Given the description of an element on the screen output the (x, y) to click on. 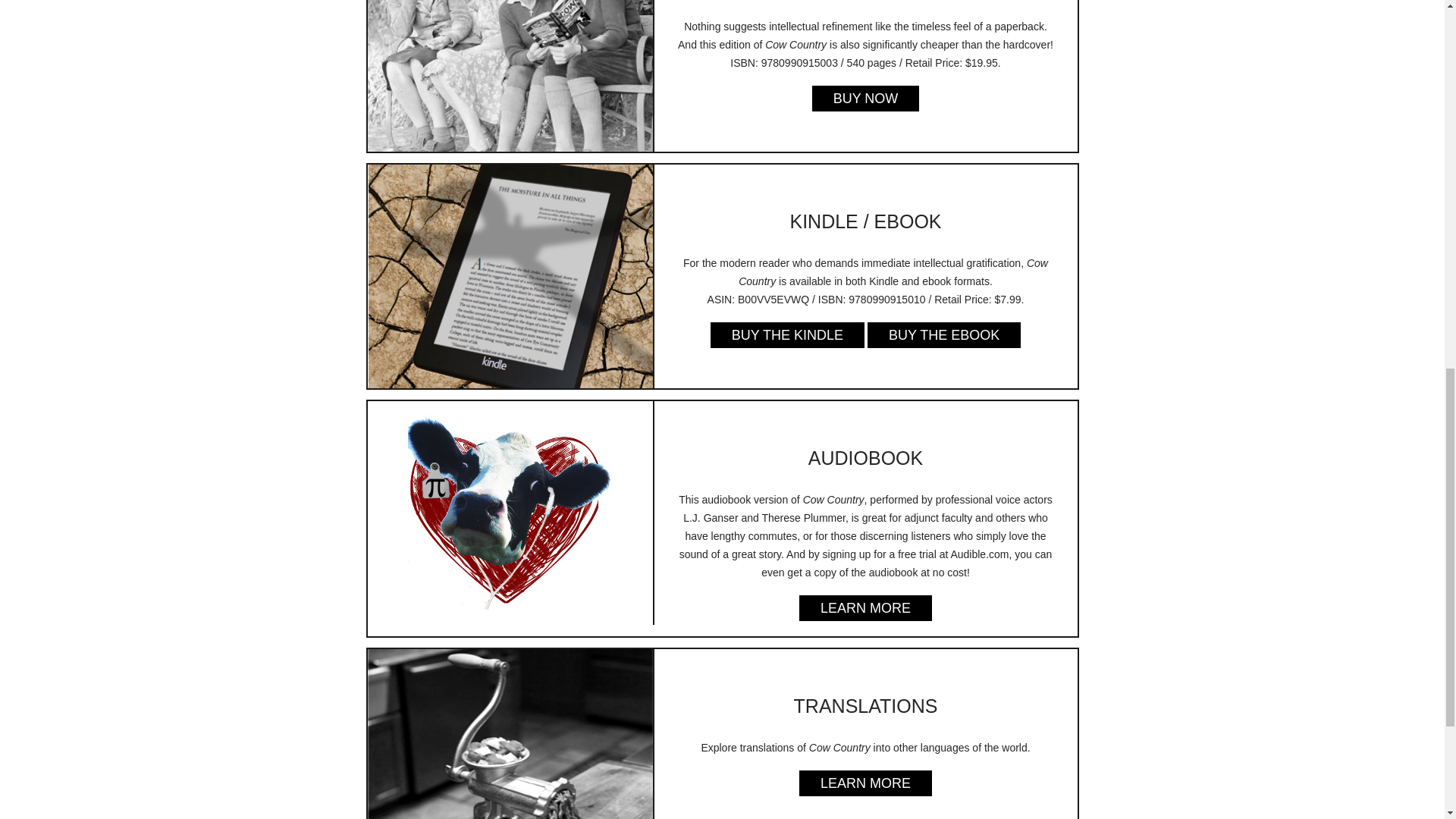
LEARN MORE (865, 607)
BUY NOW (866, 98)
LEARN MORE (865, 783)
BUY THE EBOOK (943, 335)
BUY THE KINDLE (787, 335)
